Given the description of an element on the screen output the (x, y) to click on. 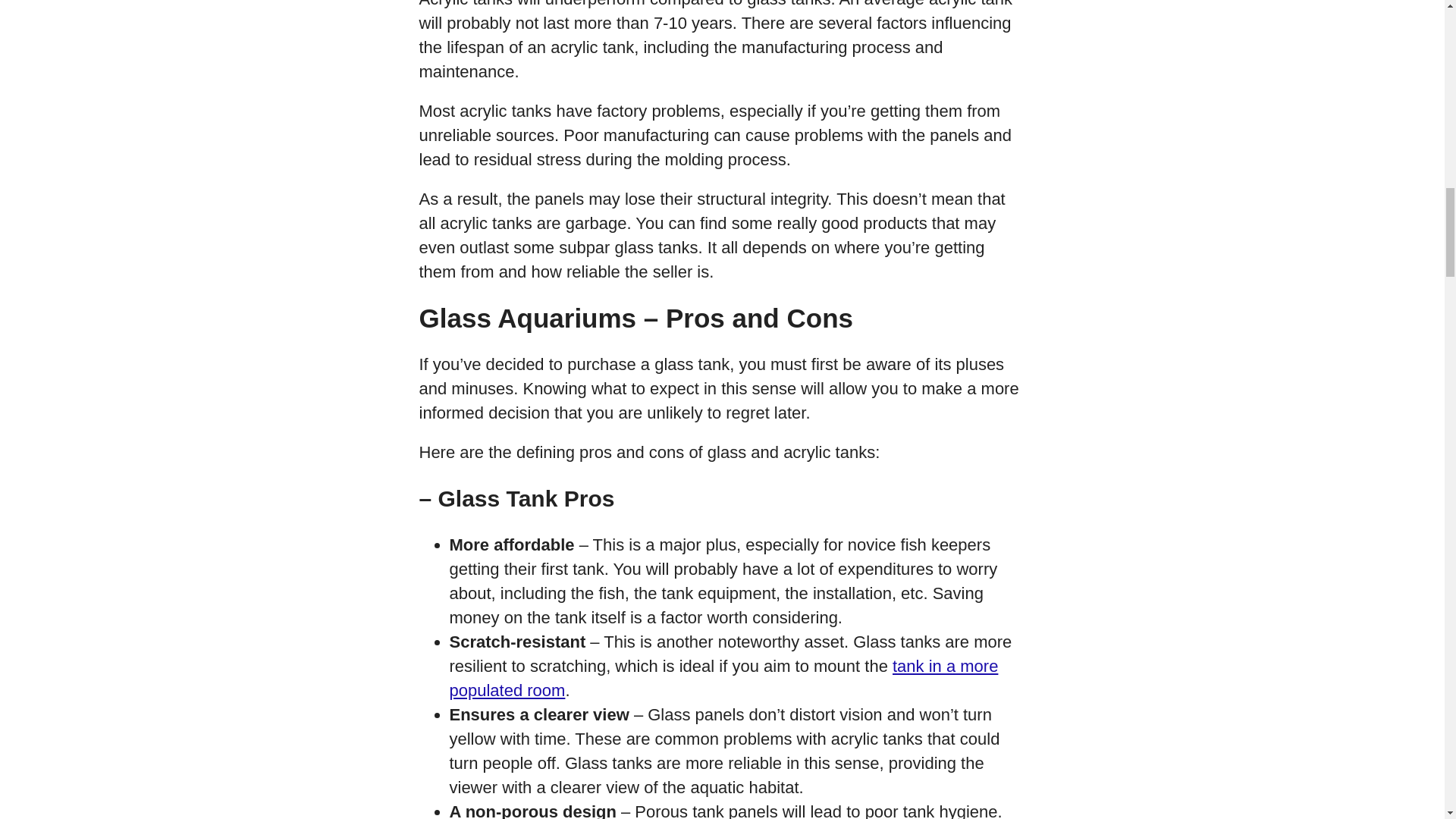
tank in a more populated room (722, 678)
